Given the description of an element on the screen output the (x, y) to click on. 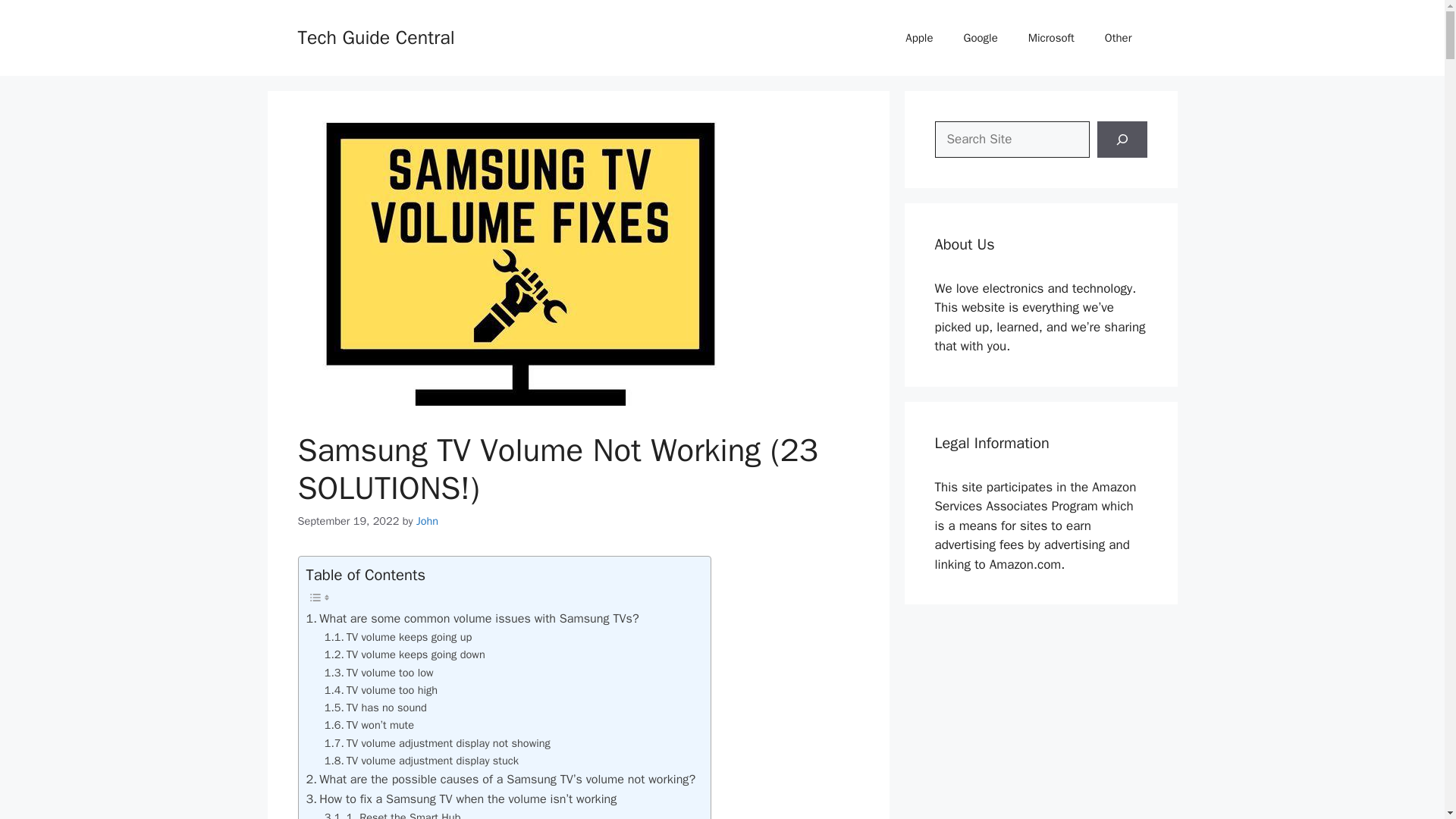
What are some common volume issues with Samsung TVs? (472, 618)
TV volume too high (381, 690)
TV volume keeps going down (404, 654)
1. Reset the Smart Hub (392, 814)
TV volume too low (378, 672)
TV volume keeps going up (397, 637)
TV volume adjustment display stuck (421, 760)
TV volume adjustment display not showing (437, 743)
TV volume adjustment display not showing (437, 743)
TV volume keeps going up (397, 637)
